Given the description of an element on the screen output the (x, y) to click on. 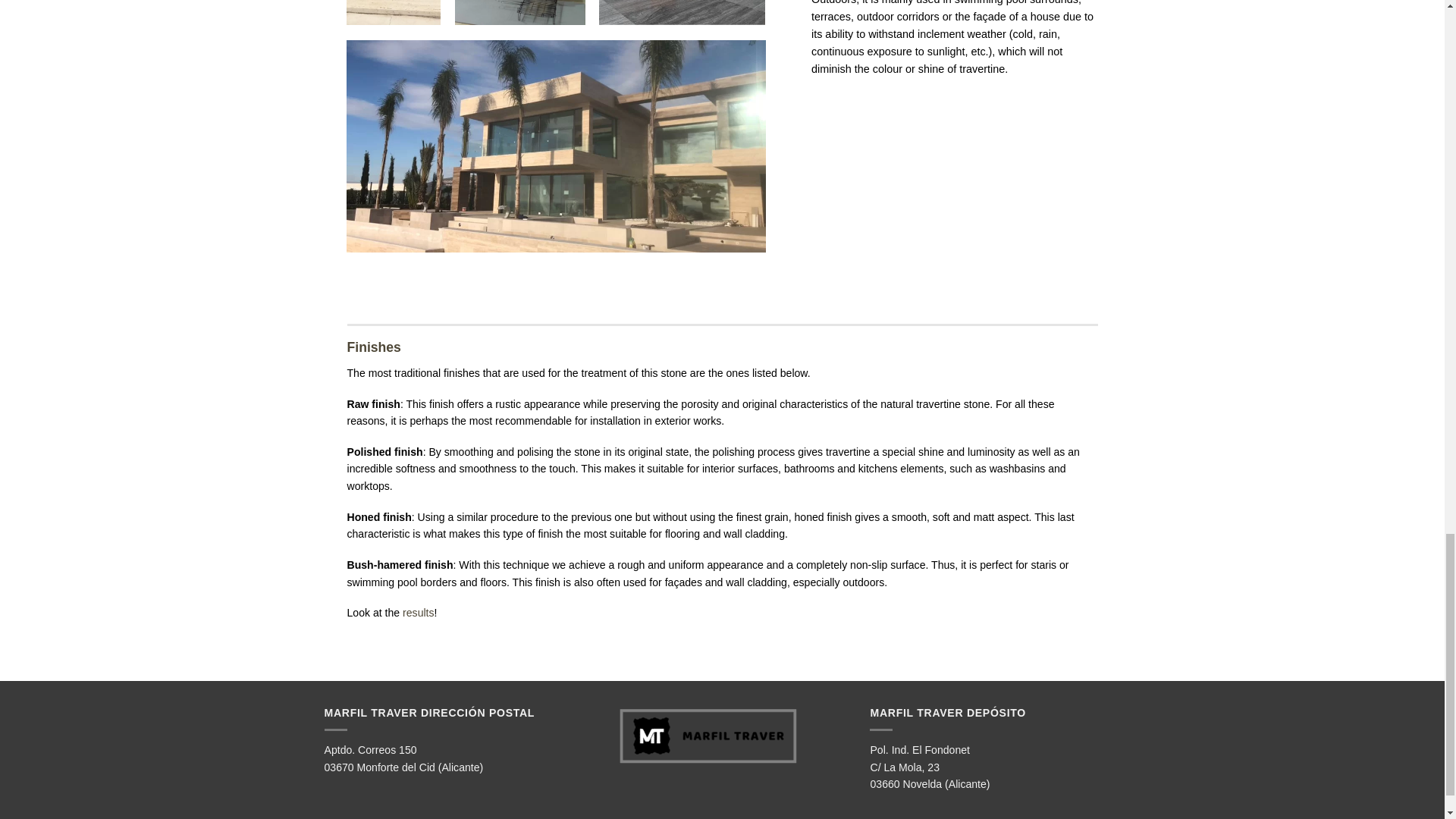
results (418, 612)
